Given the description of an element on the screen output the (x, y) to click on. 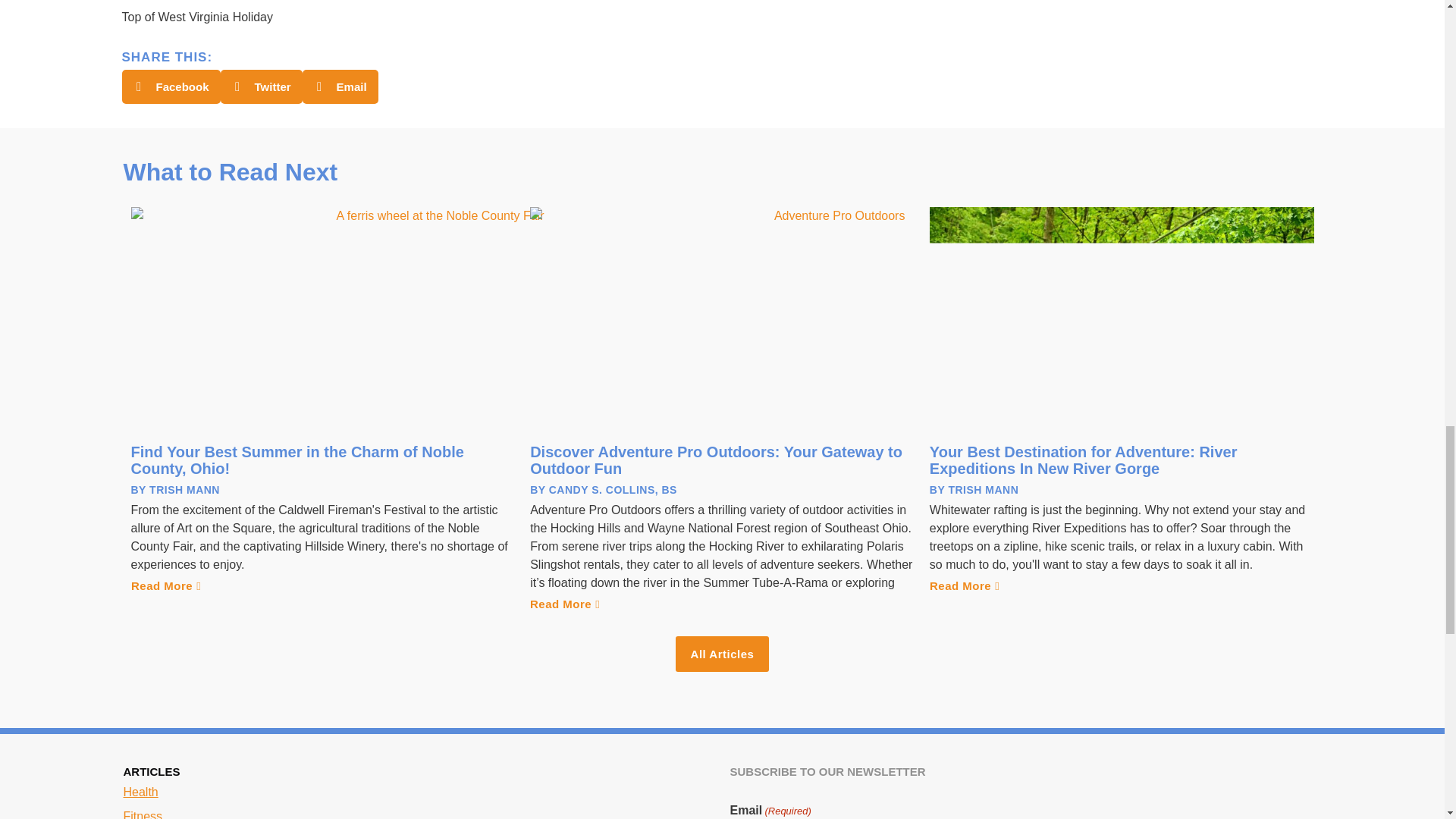
Read More (165, 585)
Find Your Best Summer in the Charm of Noble County, Ohio! (297, 459)
